Given the description of an element on the screen output the (x, y) to click on. 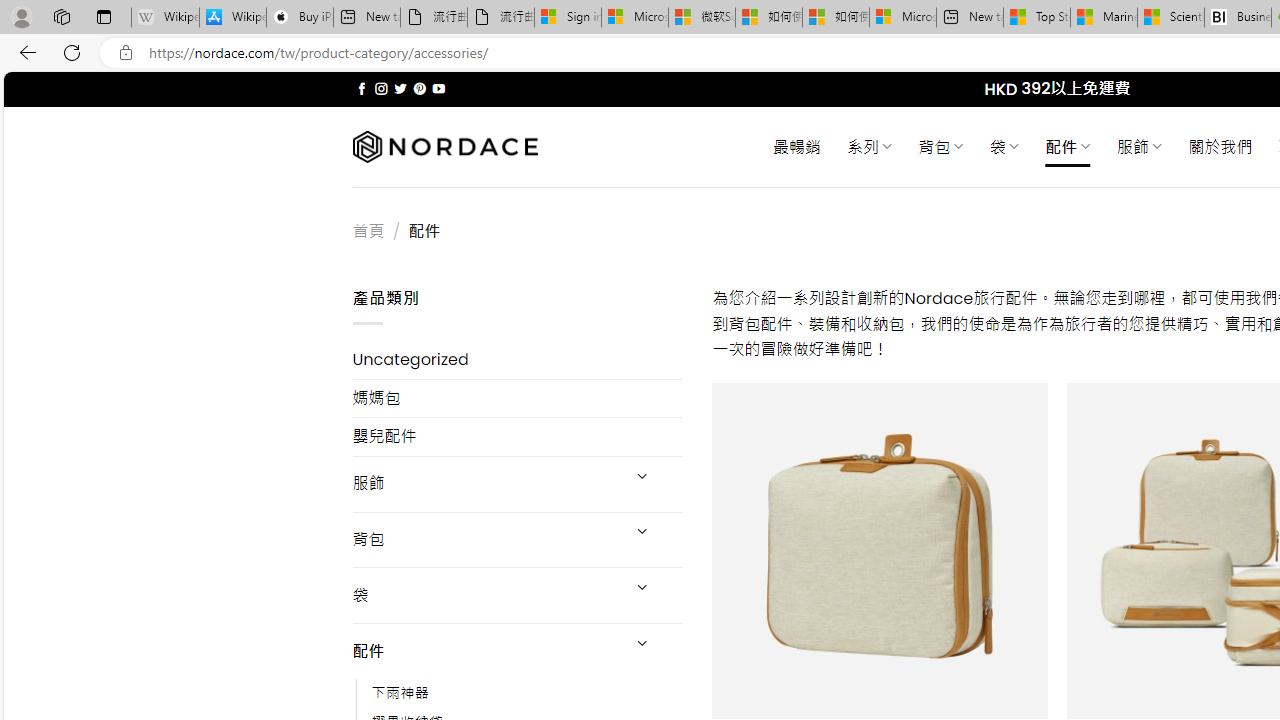
Nordace (444, 147)
Follow on Instagram (381, 88)
Follow on Facebook (361, 88)
